Given the description of an element on the screen output the (x, y) to click on. 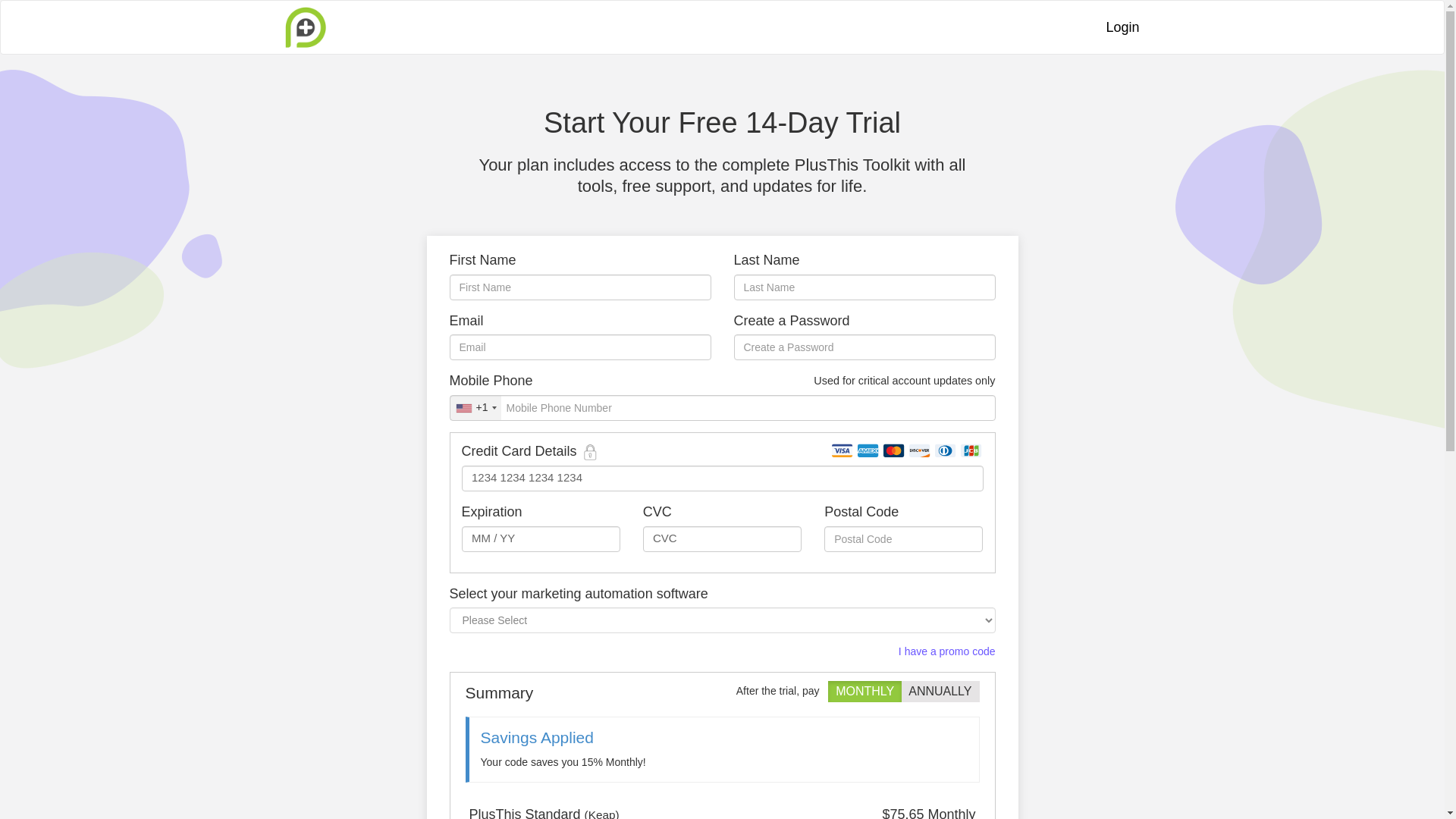
I have a promo code (946, 651)
1 (840, 690)
2 (913, 690)
Secure expiration date input frame (540, 537)
Login (1122, 27)
Secure card number input frame (722, 477)
Secure CVC input frame (722, 537)
